Given the description of an element on the screen output the (x, y) to click on. 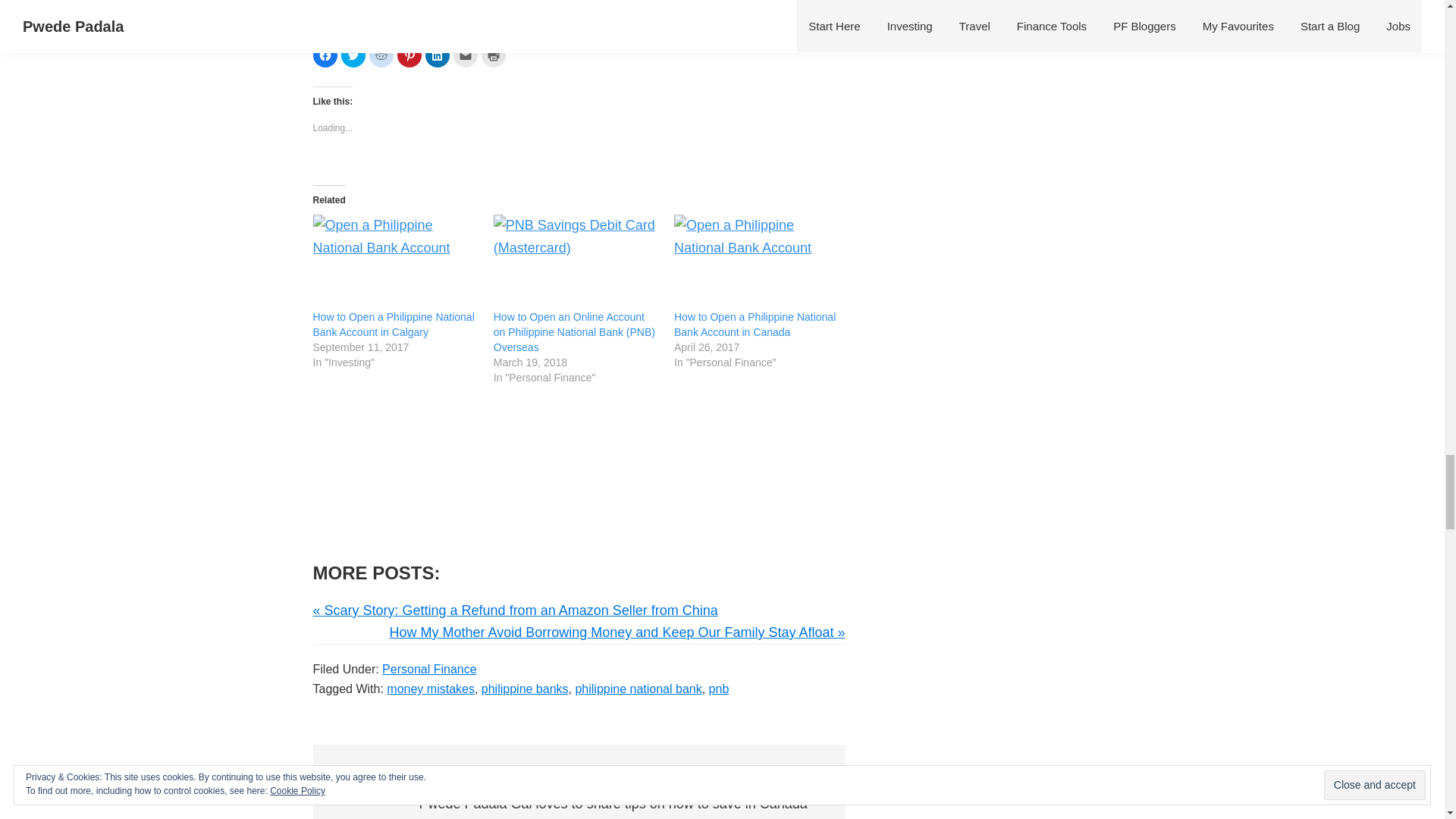
How to Open a Philippine National Bank Account in Calgary (393, 324)
Click to print (492, 55)
How to Open a Philippine National Bank Account in Calgary (395, 261)
Click to share on Reddit (380, 55)
Click to email a link to a friend (464, 55)
Click to share on LinkedIn (436, 55)
How to Open a Philippine National Bank Account in Canada (754, 324)
How to Open a Philippine National Bank Account in Canada (757, 261)
Click to share on Facebook (324, 55)
Personal Finance (429, 668)
